Given the description of an element on the screen output the (x, y) to click on. 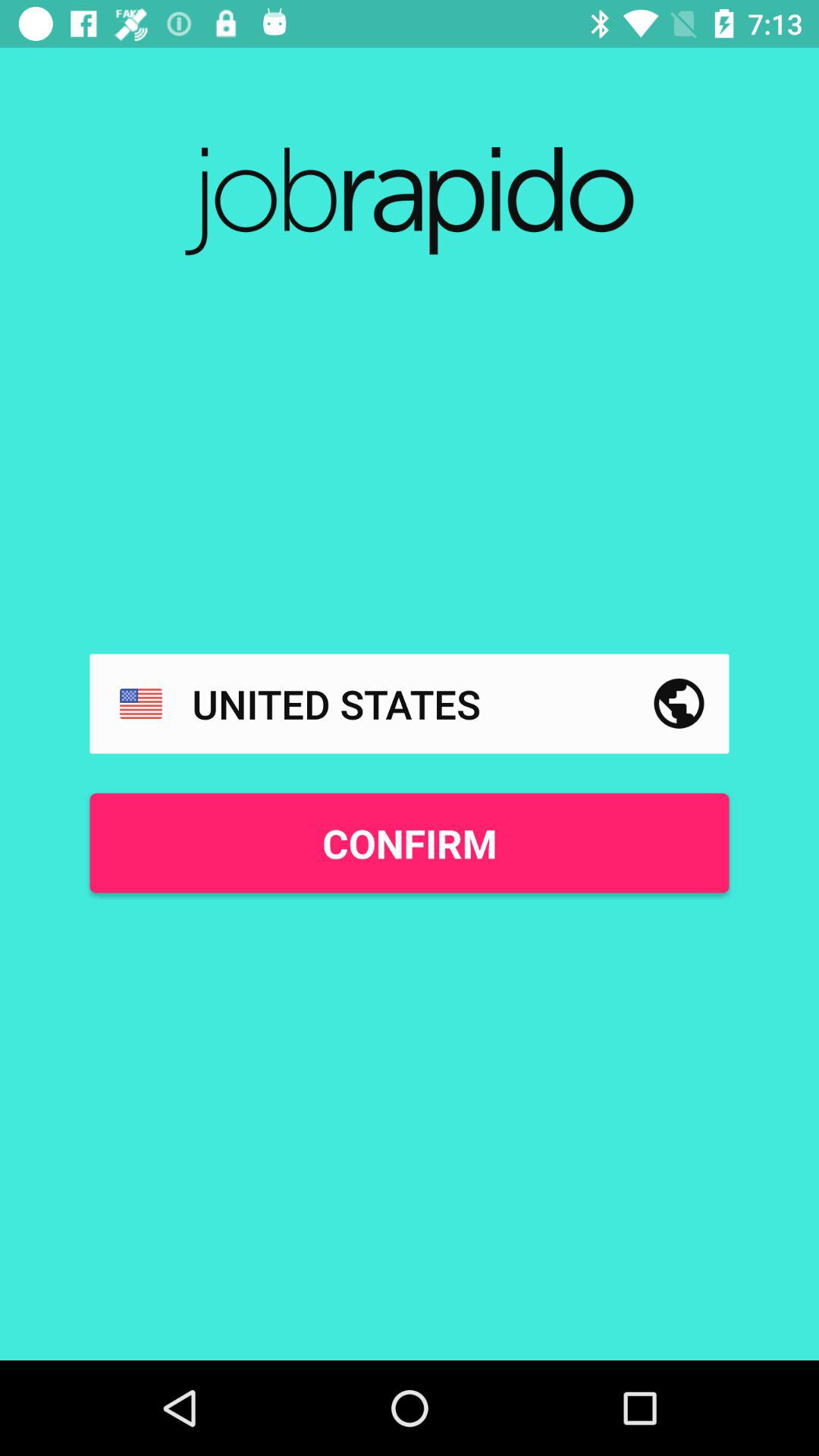
turn on item below the united states item (409, 842)
